Given the description of an element on the screen output the (x, y) to click on. 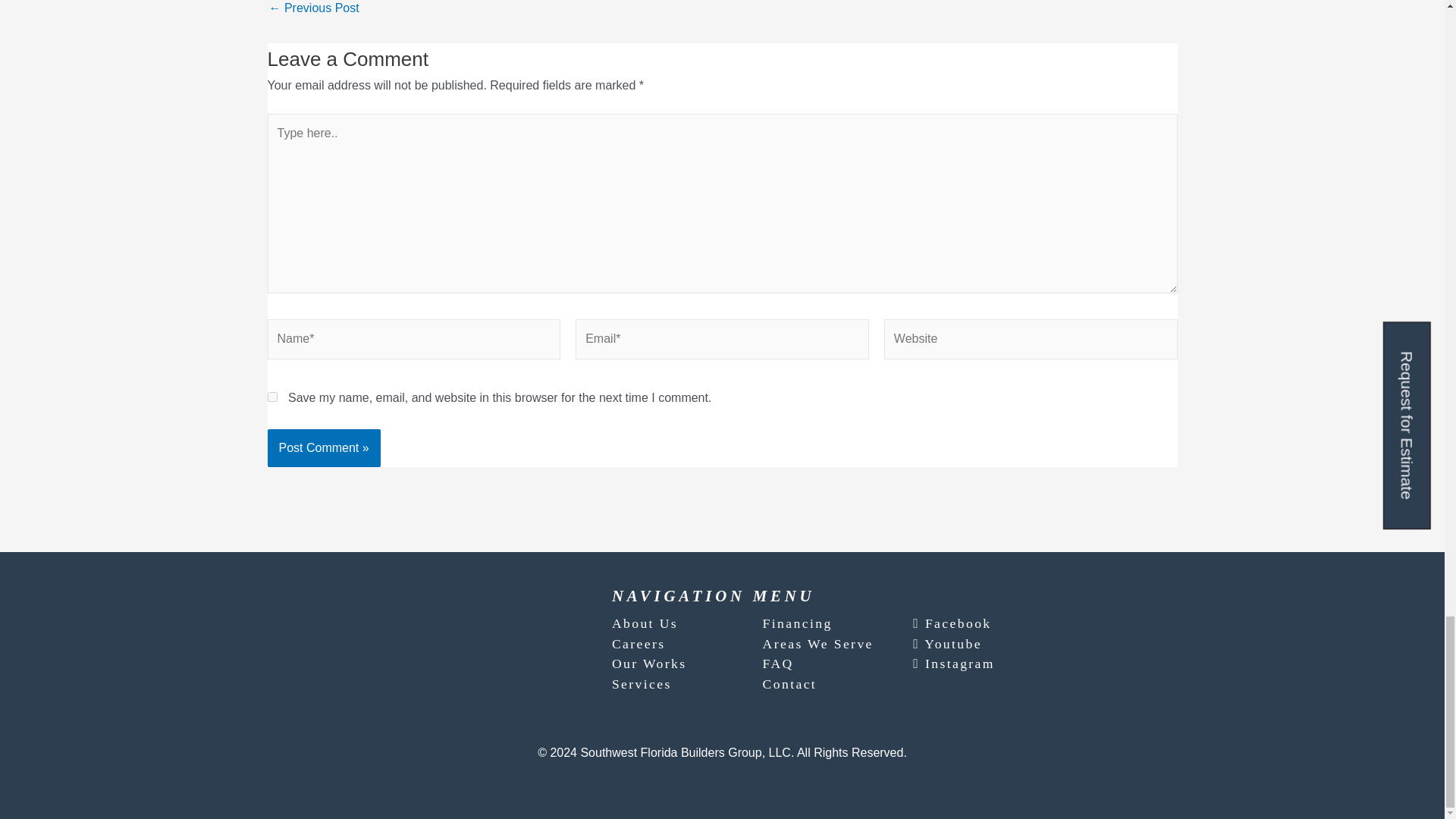
yes (271, 397)
Safety vs. Convenience: Walk-In Tub Pros and Cons (312, 8)
